Given the description of an element on the screen output the (x, y) to click on. 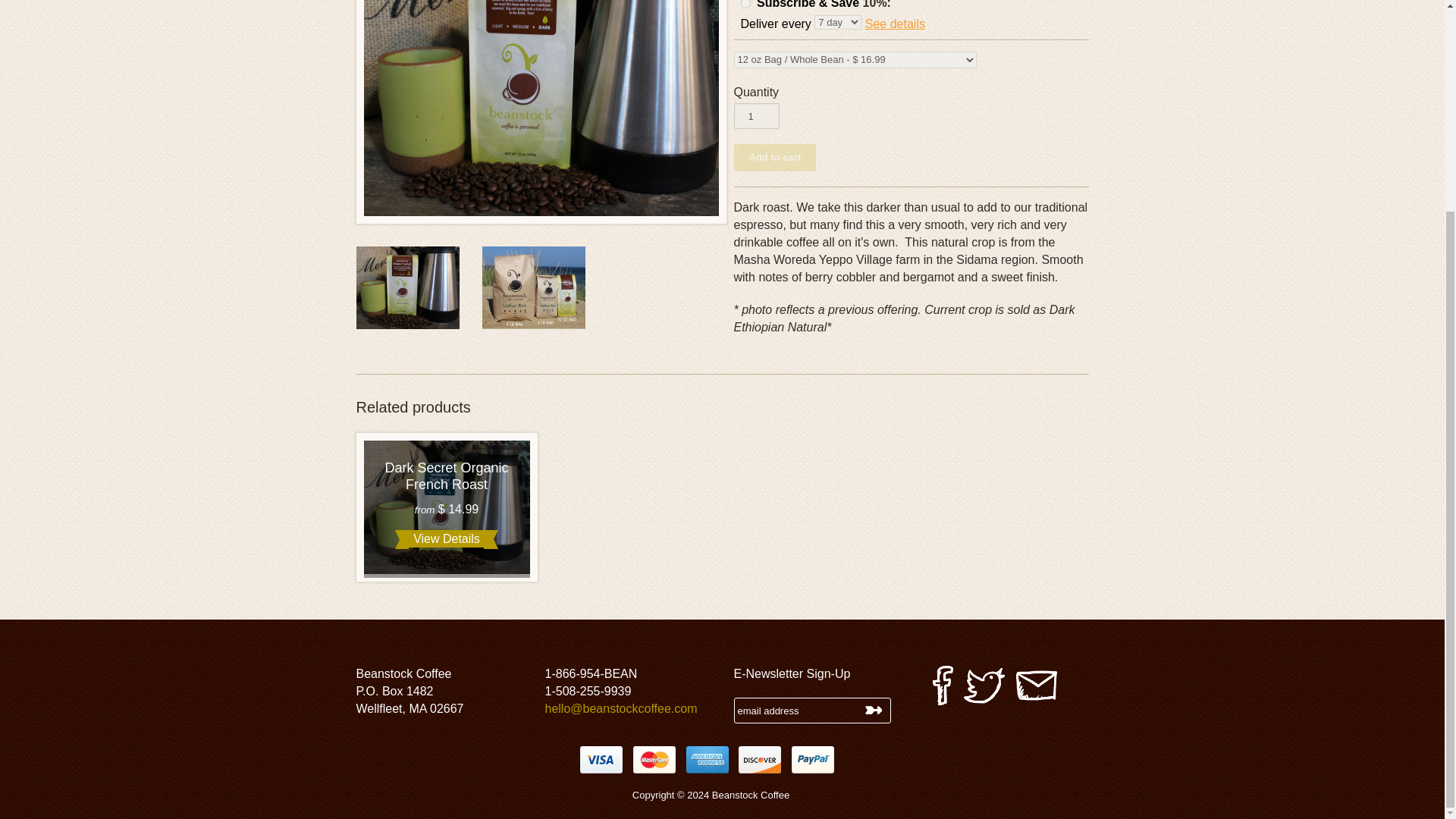
Add to cart (774, 157)
1 (755, 115)
autodeliver (744, 4)
See details (894, 23)
Add to cart (774, 157)
